Given the description of an element on the screen output the (x, y) to click on. 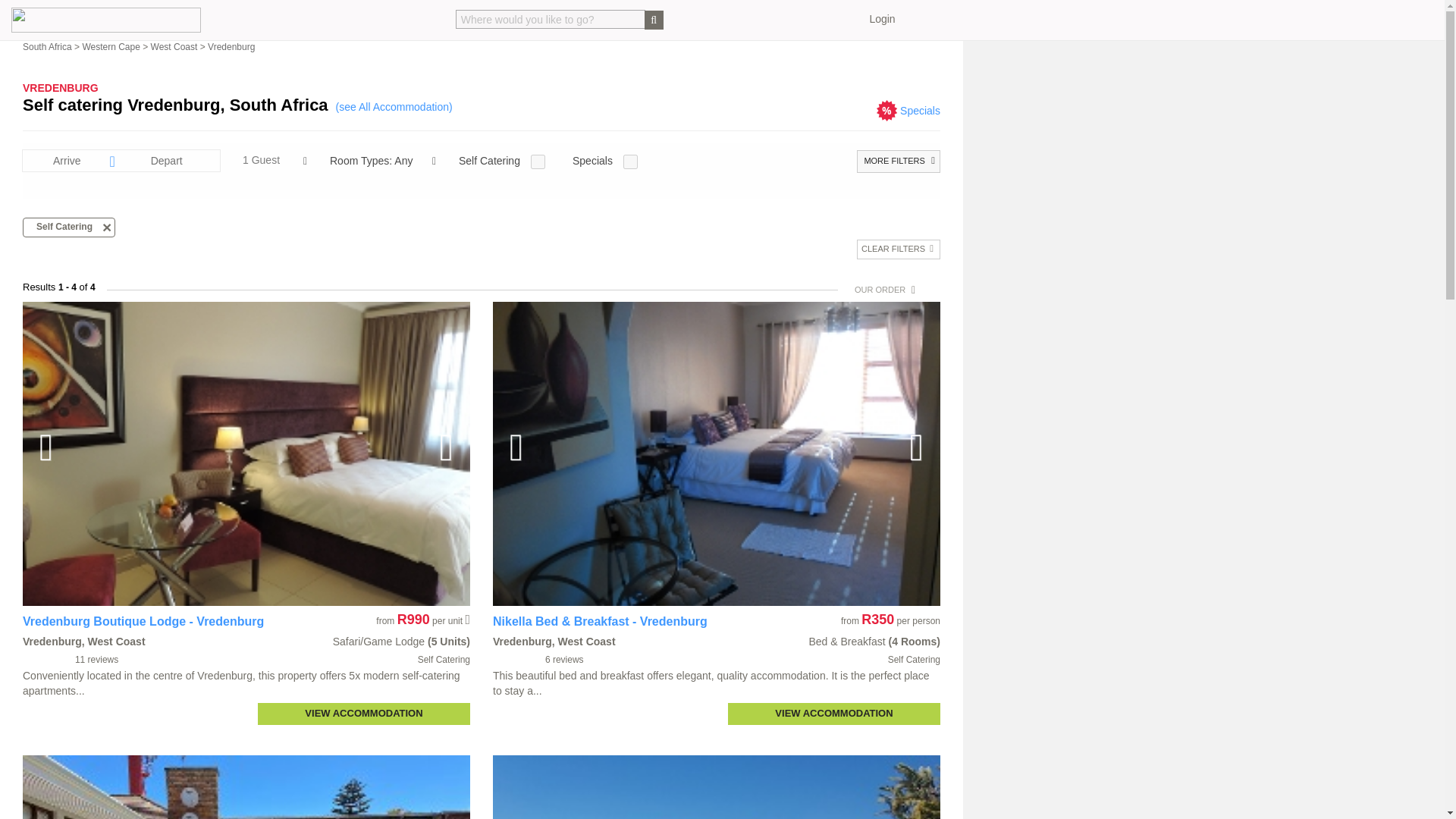
West Coast (174, 46)
on (537, 161)
Specials (919, 110)
South Africa (47, 46)
Login (882, 19)
Vredenburg (231, 46)
Vredenburg Boutique Lodge - Vredenburg (143, 621)
Western Cape (110, 46)
on (630, 161)
VIEW ACCOMMODATION (363, 713)
